Given the description of an element on the screen output the (x, y) to click on. 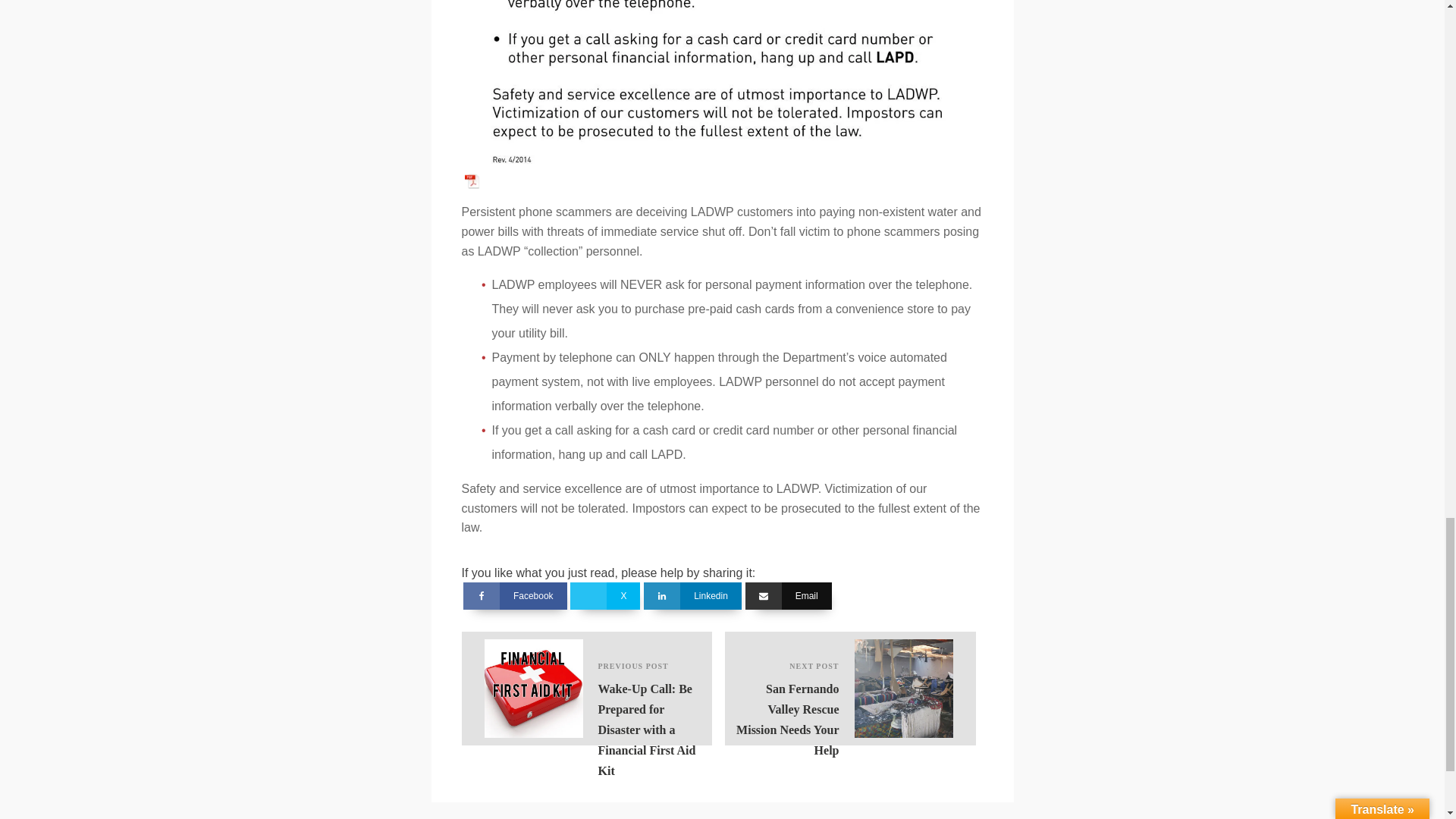
Facebook (850, 688)
Email (515, 595)
Linkedin (788, 595)
X (692, 595)
